Given the description of an element on the screen output the (x, y) to click on. 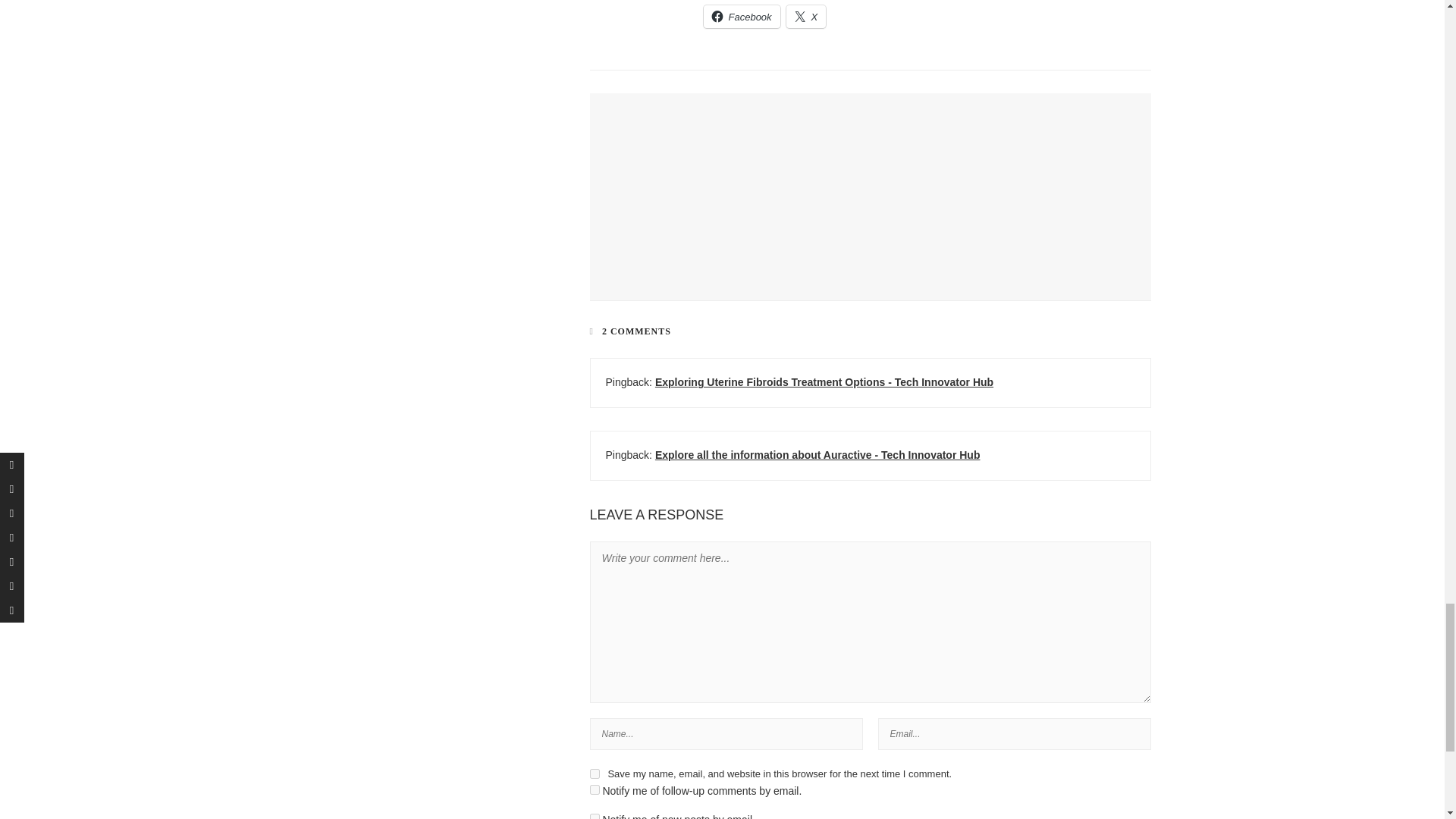
yes (594, 773)
subscribe (594, 816)
subscribe (594, 789)
